Given the description of an element on the screen output the (x, y) to click on. 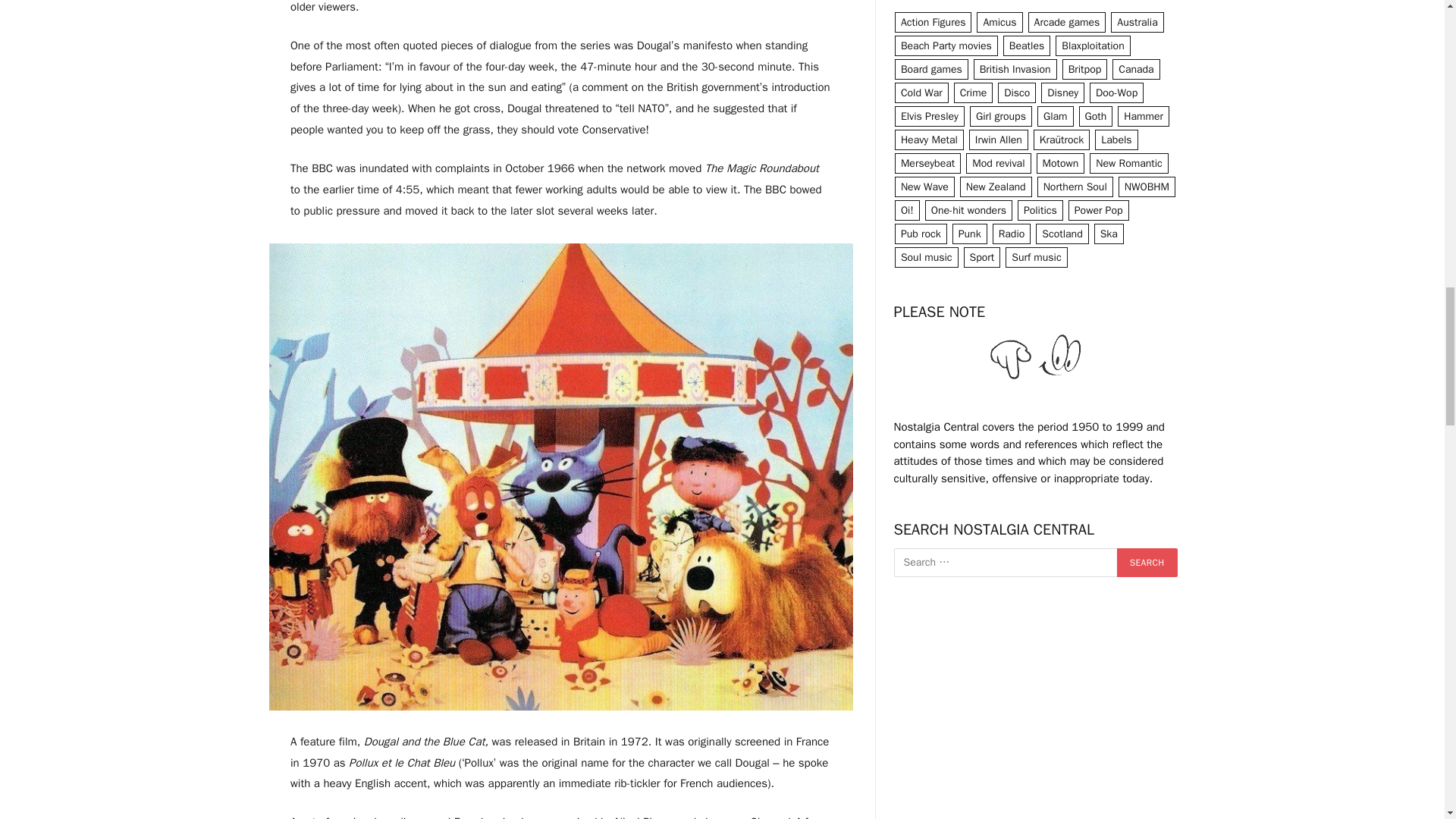
Search (1146, 562)
Search (1146, 562)
